Given the description of an element on the screen output the (x, y) to click on. 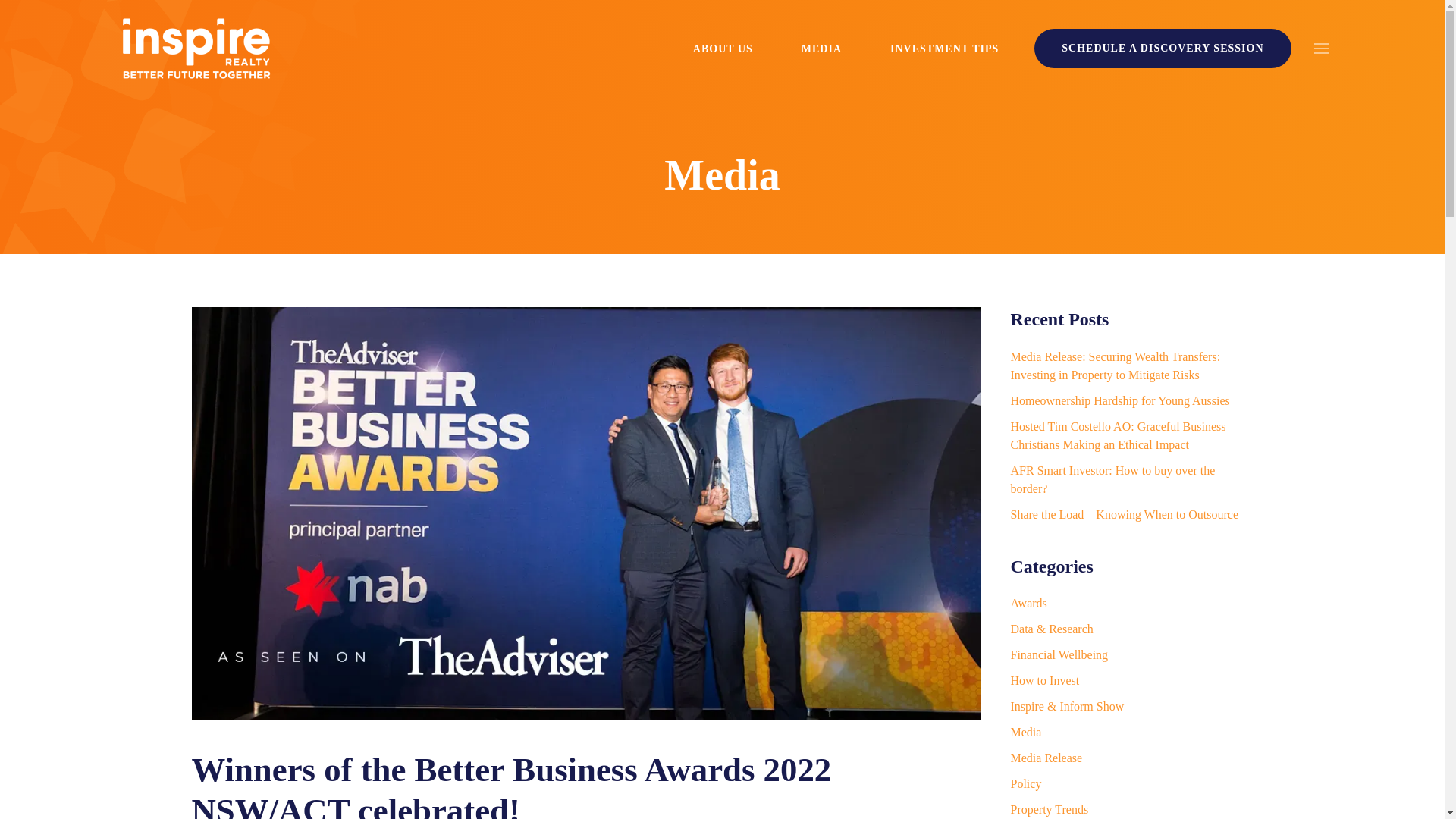
Media Release (1045, 757)
Media (721, 174)
Awards (1028, 603)
AFR Smart Investor: How to buy over the border? (1112, 479)
Homeownership Hardship for Young Aussies (1119, 400)
MEDIA (821, 48)
Financial Wellbeing (1059, 654)
INVESTMENT TIPS (944, 48)
ABOUT US (722, 48)
How to Invest (1044, 680)
